Given the description of an element on the screen output the (x, y) to click on. 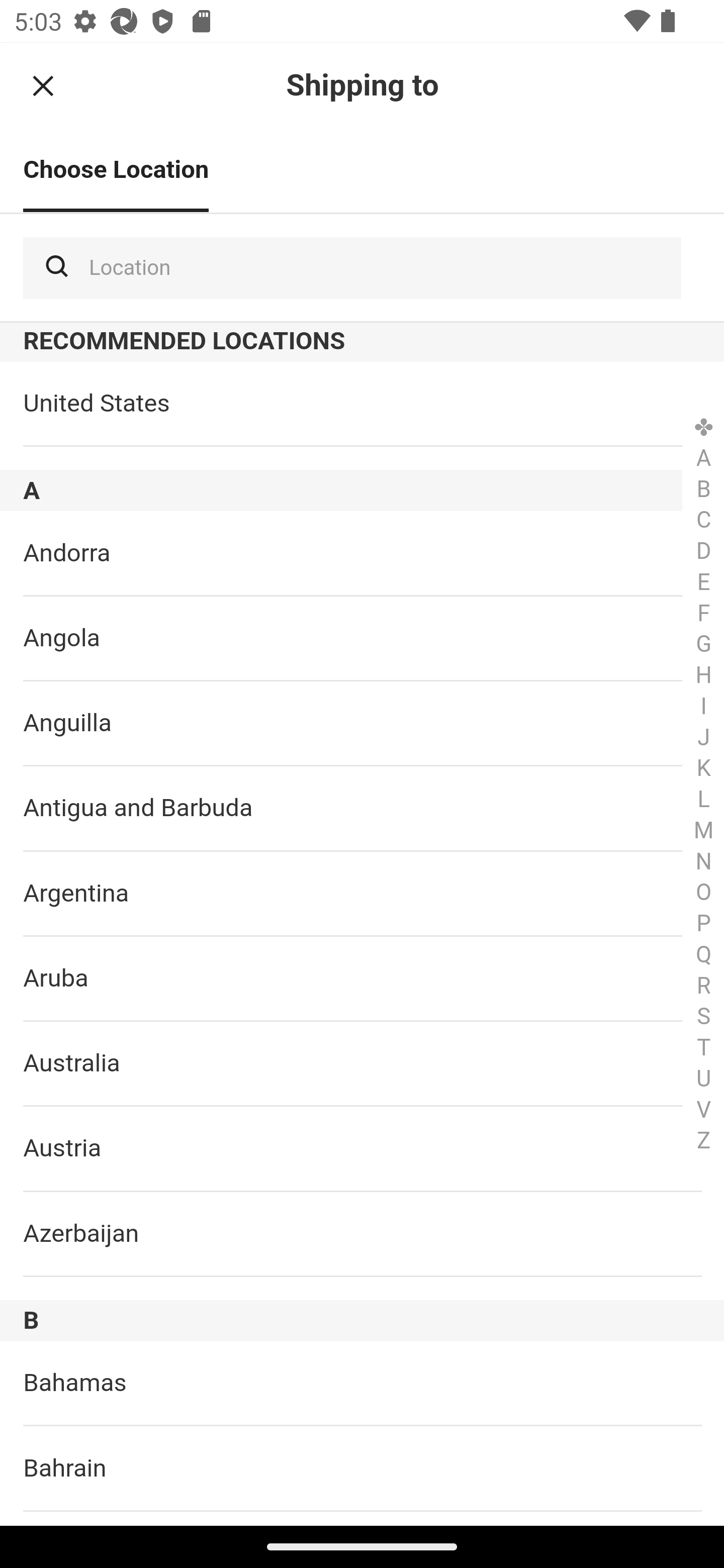
 (43, 85)
Choose Location (115, 170)
United States (361, 404)
Andorra (361, 553)
Angola (361, 638)
Anguilla (361, 724)
Antigua and Barbuda (361, 808)
Argentina (361, 894)
Aruba (361, 979)
Australia (361, 1064)
Austria (361, 1149)
Azerbaijan (361, 1233)
Bahamas (361, 1384)
Bahrain (361, 1469)
